Given the description of an element on the screen output the (x, y) to click on. 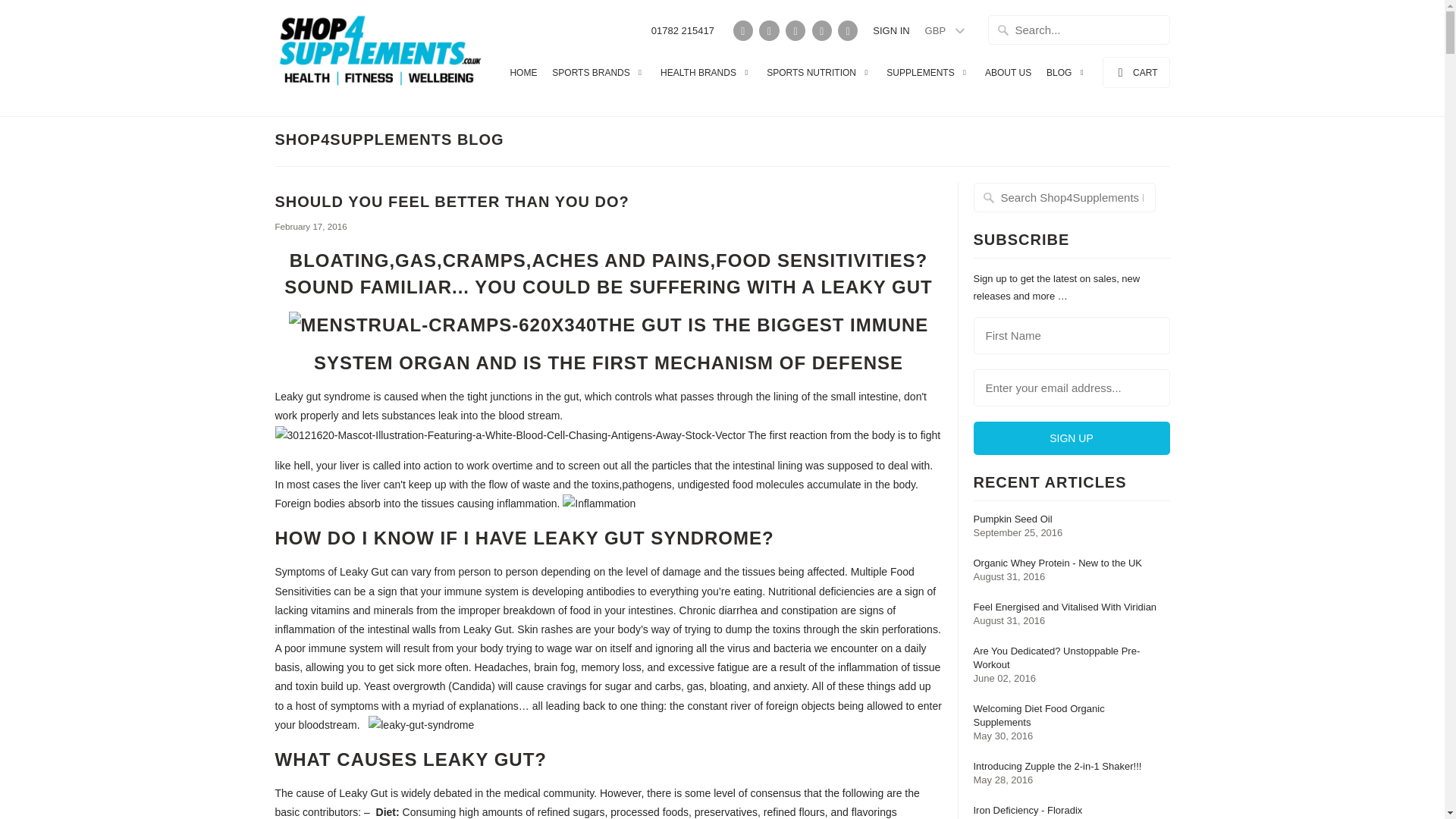
Shop4Supplements on Facebook (768, 30)
Shop4Supplements on Twitter (742, 30)
SIGN IN (890, 34)
HEALTH BRANDS (706, 76)
Email Shop4Supplements (847, 30)
Sign Up (1072, 438)
HOME (523, 76)
Shop4Supplements on YouTube (795, 30)
01782 215417 (682, 34)
Shop4Supplements on Instagram (821, 30)
Cart (1136, 71)
Shop4Supplements (380, 57)
SPORTS BRANDS (598, 76)
